Given the description of an element on the screen output the (x, y) to click on. 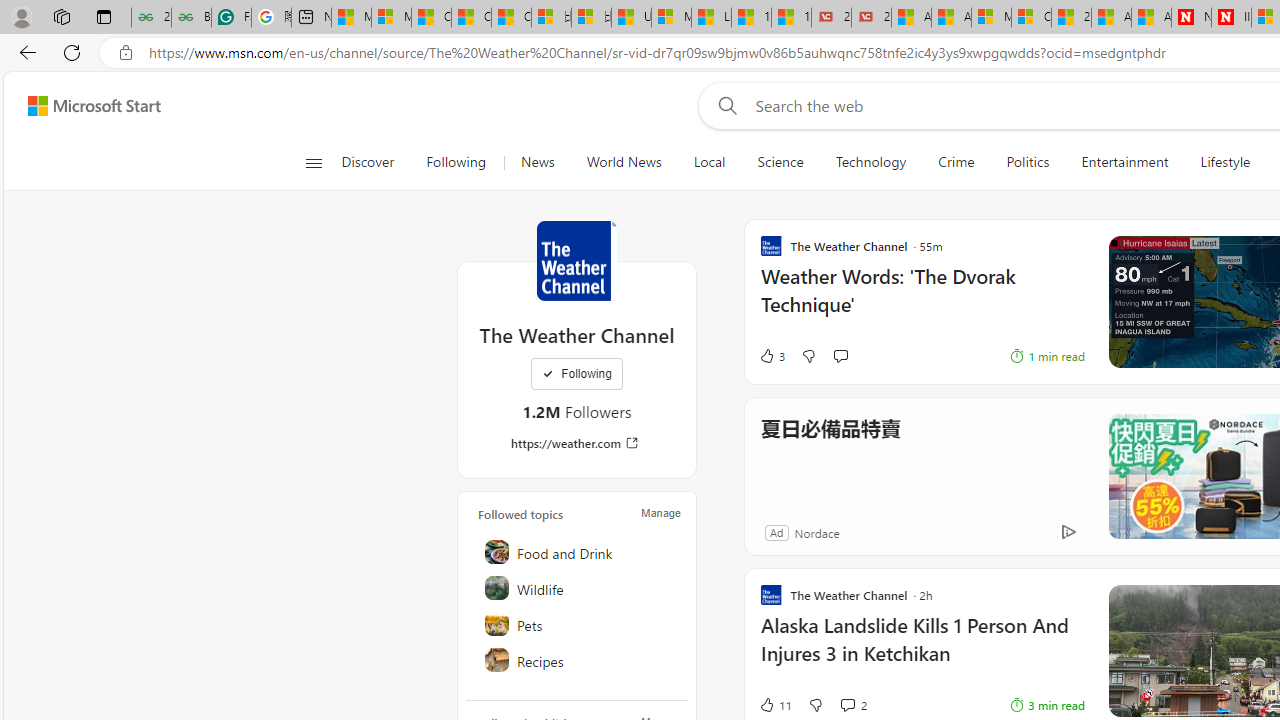
Illness news & latest pictures from Newsweek.com (1231, 17)
21 Movies That Outdid the Books They Were Based On (871, 17)
Food and Drink (578, 551)
